Given the description of an element on the screen output the (x, y) to click on. 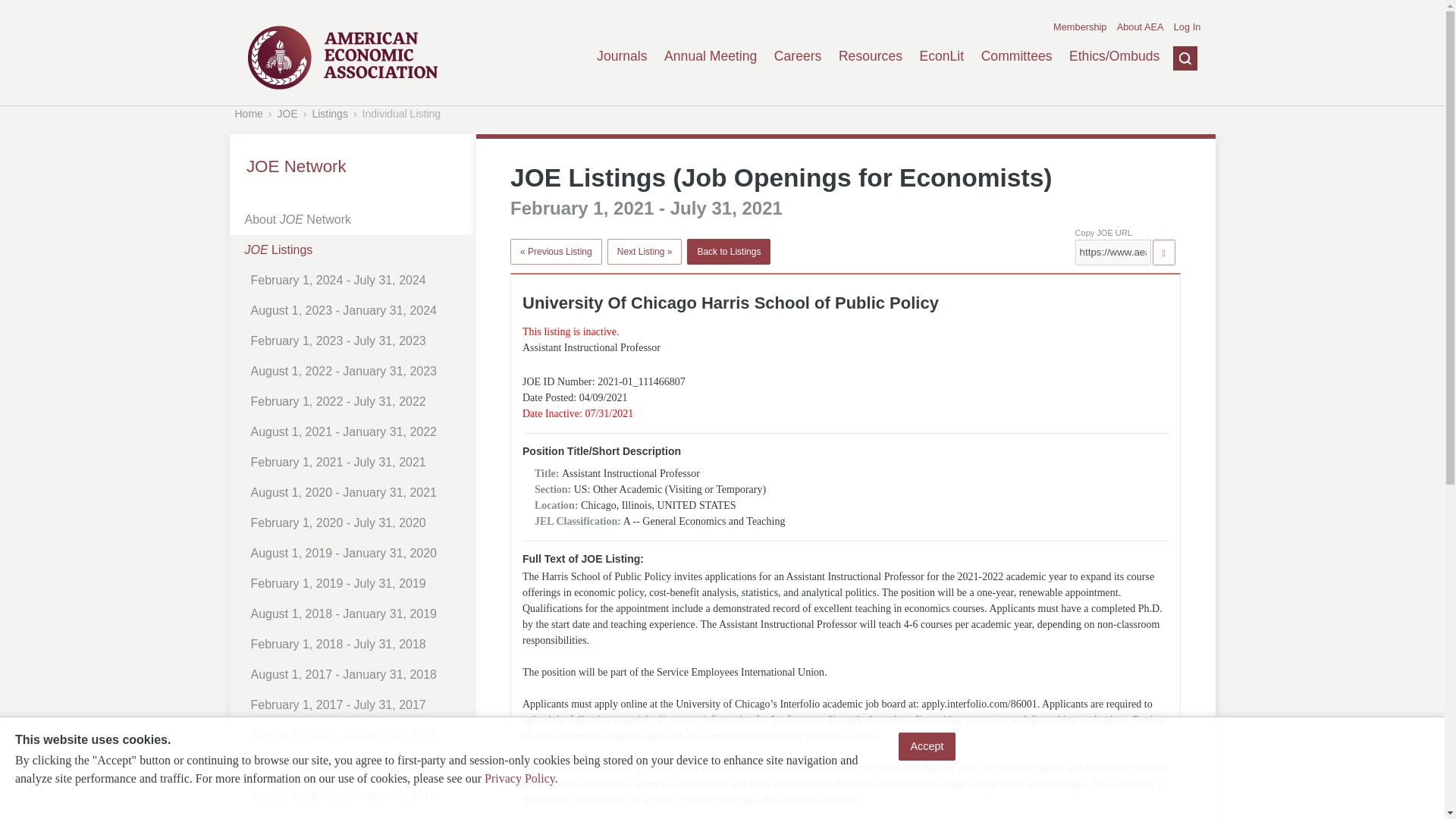
February 1, 2023 - July 31, 2023 (358, 340)
August 1, 2022 - January 31, 2023 (358, 371)
About JOE Network (355, 219)
February 1, 2022 - July 31, 2022 (358, 401)
Careers (798, 55)
Annual Meeting (710, 55)
Log In (1187, 26)
August 1, 2020 - January 31, 2021 (358, 492)
Membership (1079, 26)
Journals (621, 55)
Listings (329, 113)
About AEA (1139, 26)
August 1, 2023 - January 31, 2024 (358, 310)
August 1, 2021 - January 31, 2022 (358, 431)
JOE (288, 113)
